Given the description of an element on the screen output the (x, y) to click on. 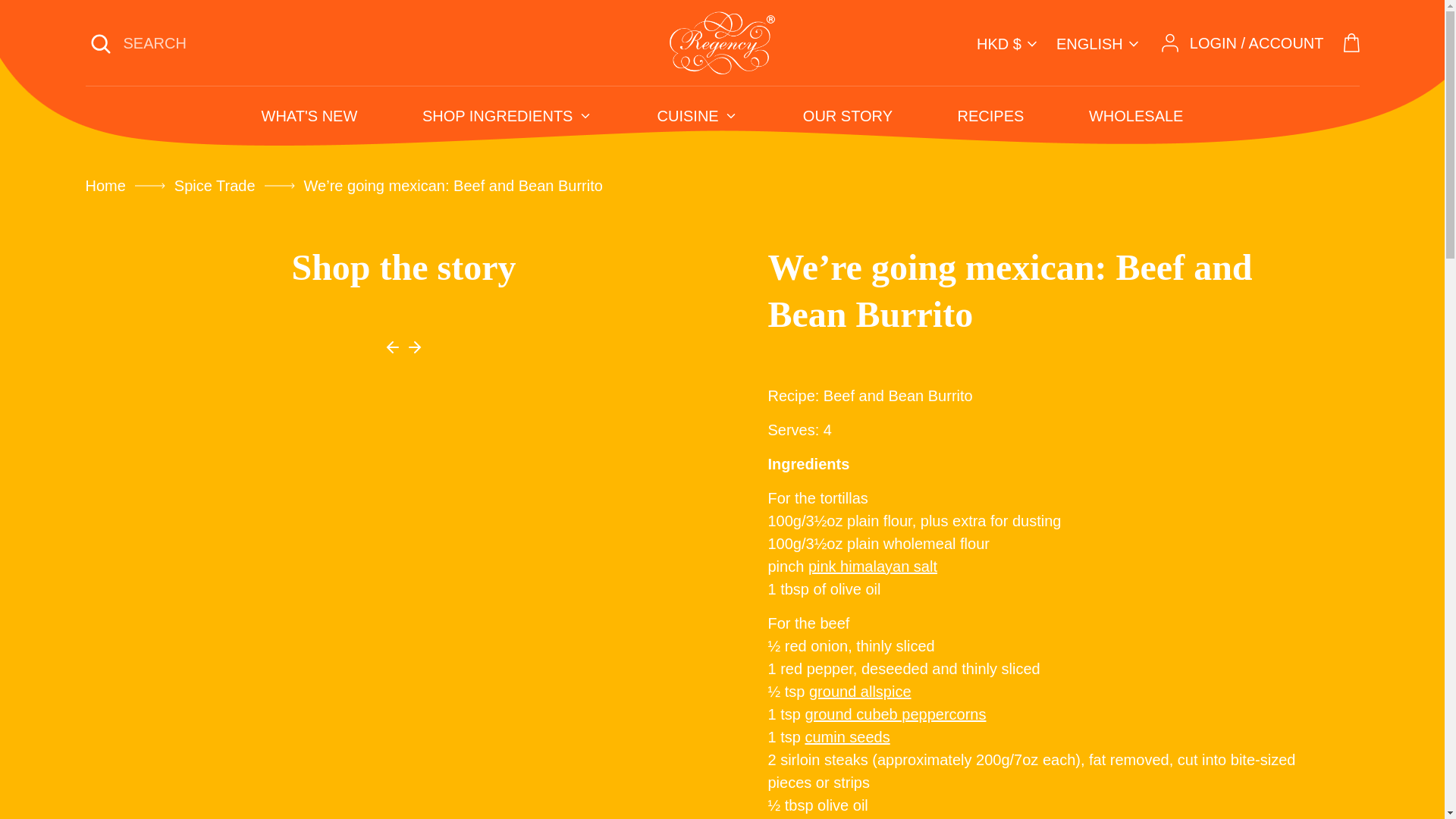
ENGLISH (1099, 43)
Pink Salt (872, 565)
Premium grade cumin seeds Spices HK (847, 736)
Allspice berries Regency (860, 691)
